Given the description of an element on the screen output the (x, y) to click on. 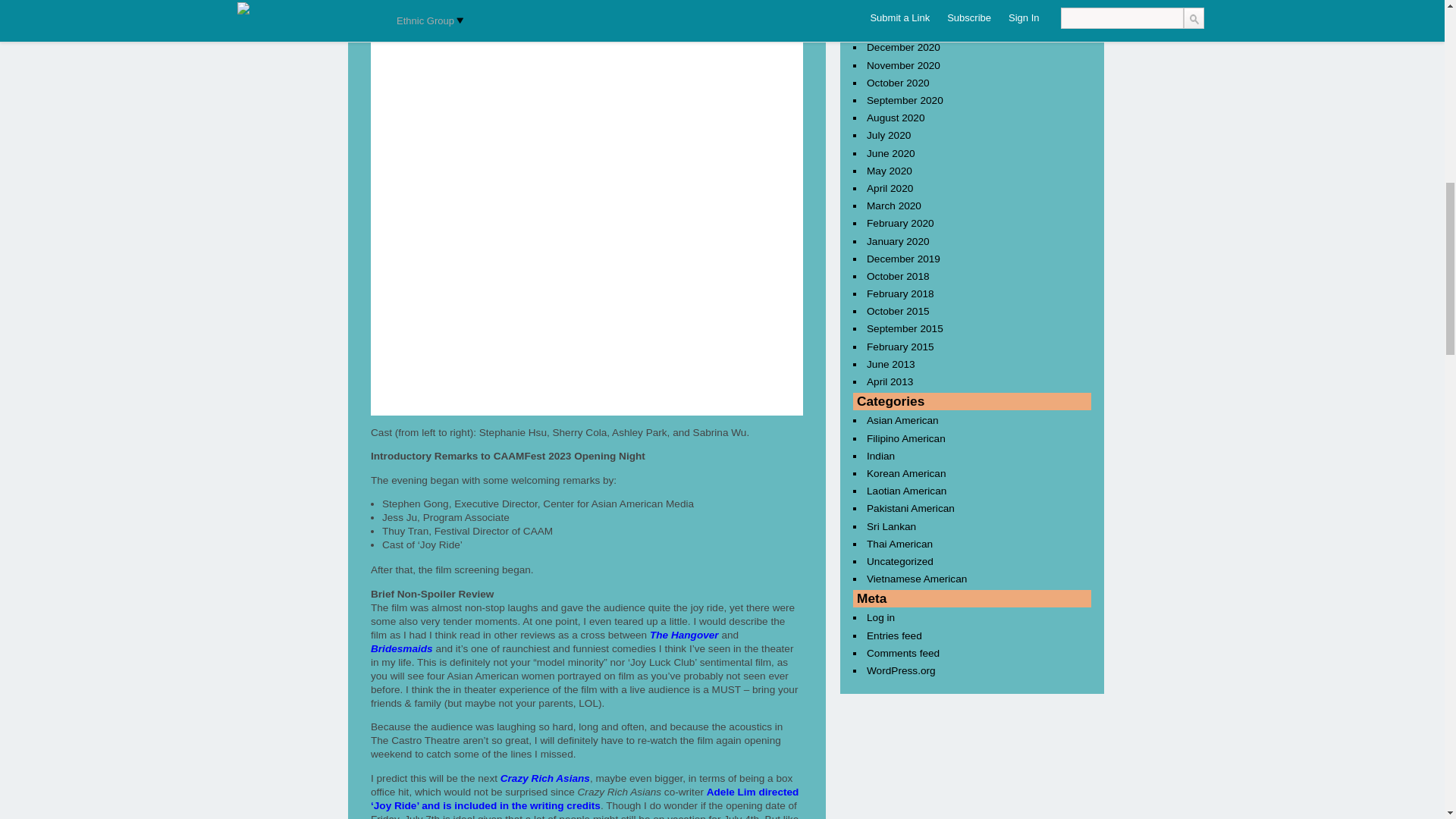
Crazy Rich Asians (544, 778)
Bridesmaids (401, 648)
The Hangover (684, 634)
